Given the description of an element on the screen output the (x, y) to click on. 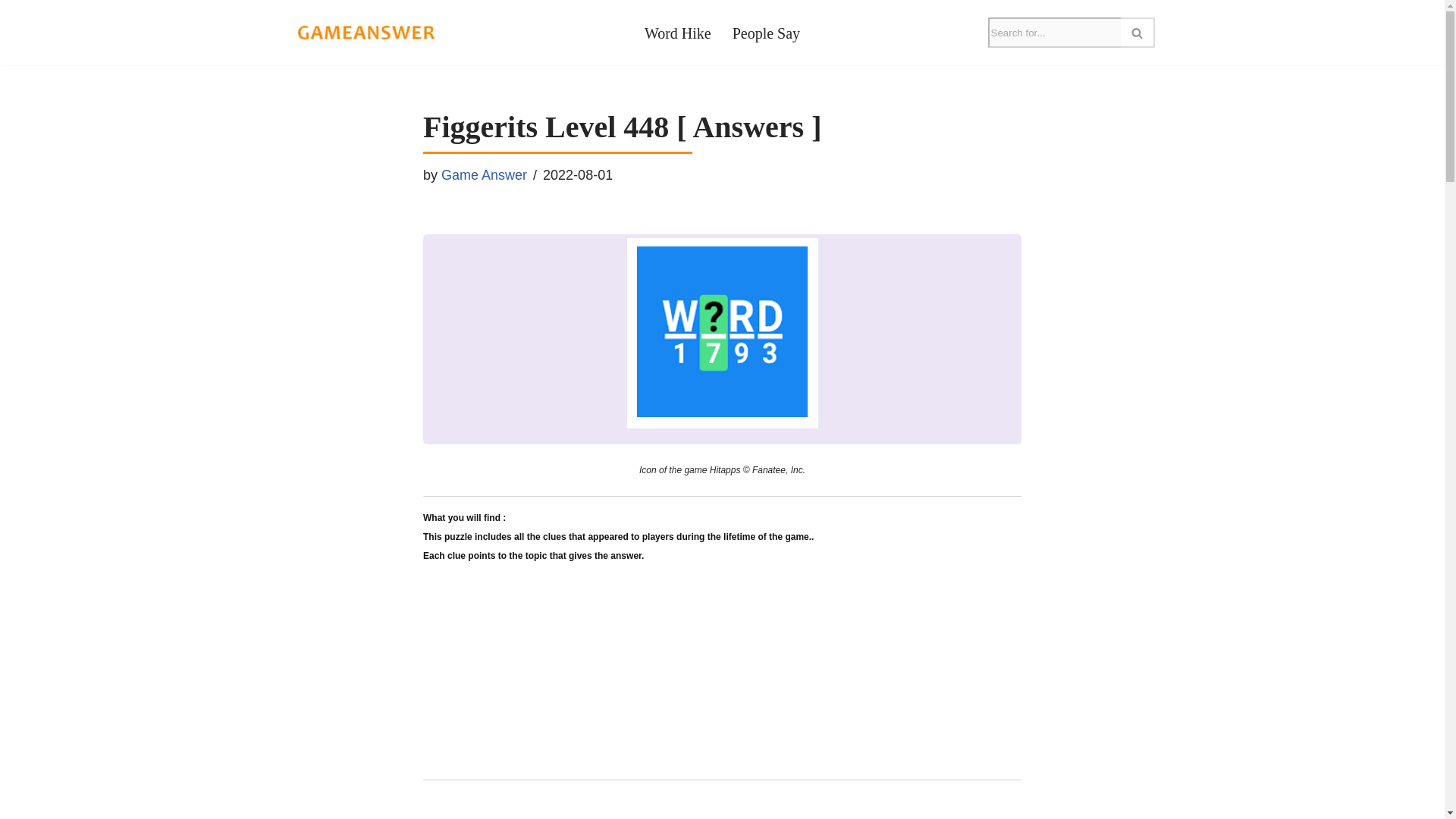
Word Hike (678, 32)
Skip to content (11, 31)
Game Answer (484, 174)
Posts by Game Answer (484, 174)
Word Hike (678, 32)
People Say (765, 32)
